Given the description of an element on the screen output the (x, y) to click on. 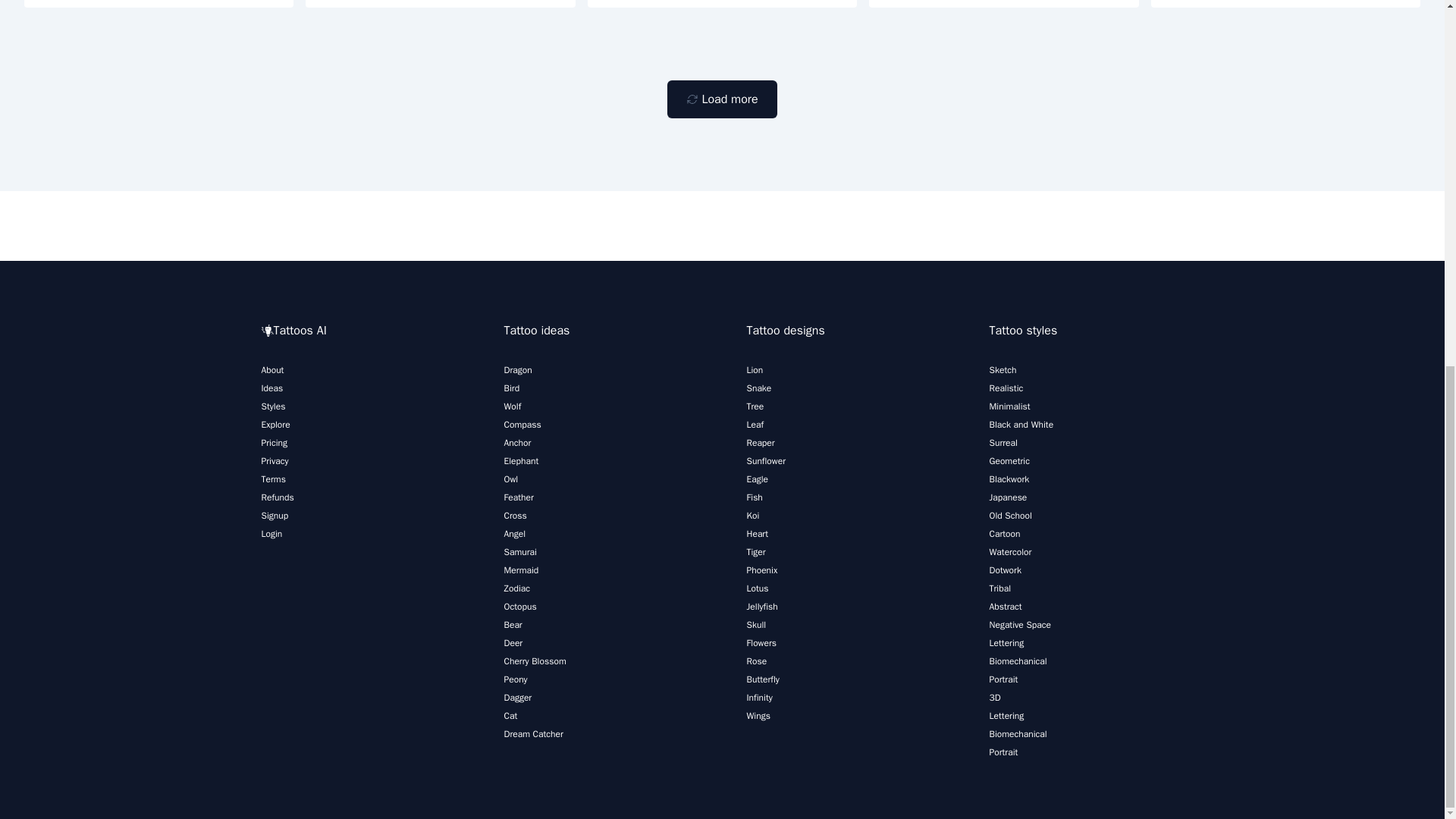
Load more (721, 98)
Pisces sign tattoo (440, 3)
Explore (274, 424)
Pisces sign Sharks Waves (1286, 3)
Pisces sign tattoo (722, 3)
Dragon (517, 369)
Login (271, 533)
Bird (511, 387)
About (271, 369)
Feather (517, 497)
Pricing (273, 442)
Terms (272, 479)
Compass (521, 424)
Pisces sign Sharks Waves (1003, 3)
Refunds (277, 497)
